Given the description of an element on the screen output the (x, y) to click on. 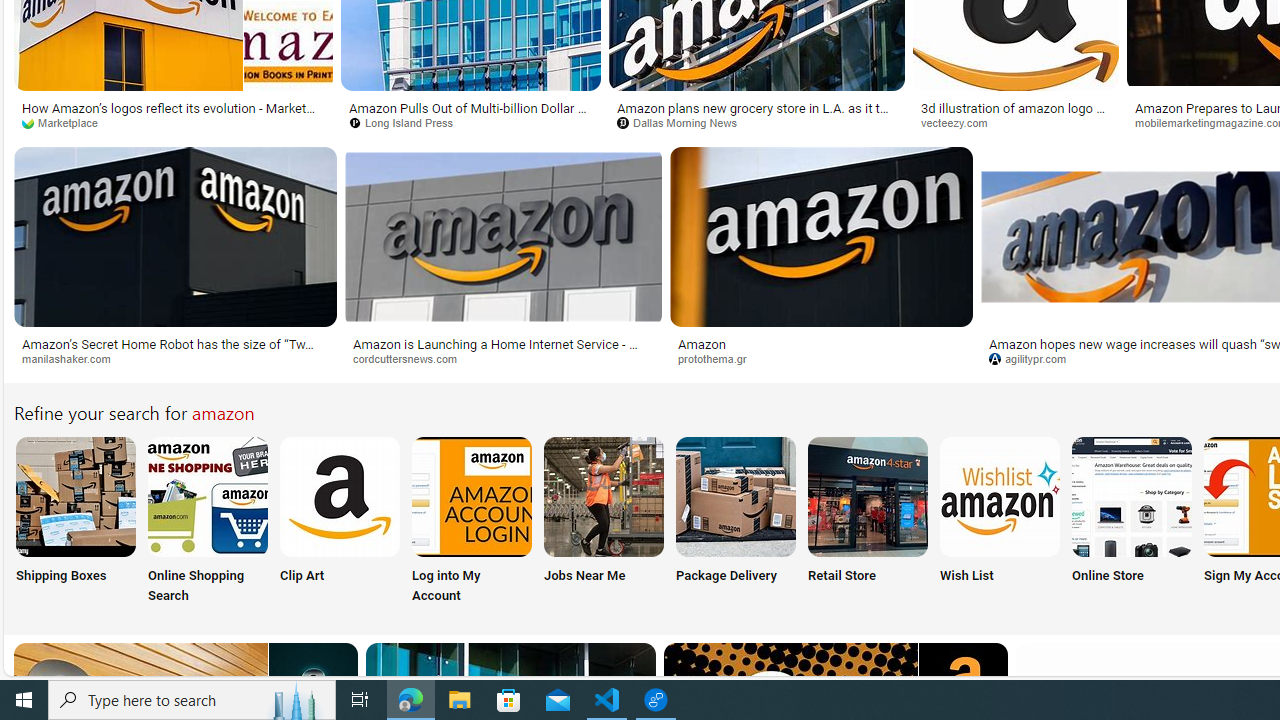
Amazon Online Store Online Store (1131, 521)
Package Delivery (735, 521)
Amazon Retail Store Retail Store (867, 521)
vecteezy.com (961, 121)
Image result for amazon (820, 236)
Amazon (701, 343)
Amazon (821, 343)
Amazonprotothema.grSave (824, 260)
Shipping Boxes (74, 521)
